Given the description of an element on the screen output the (x, y) to click on. 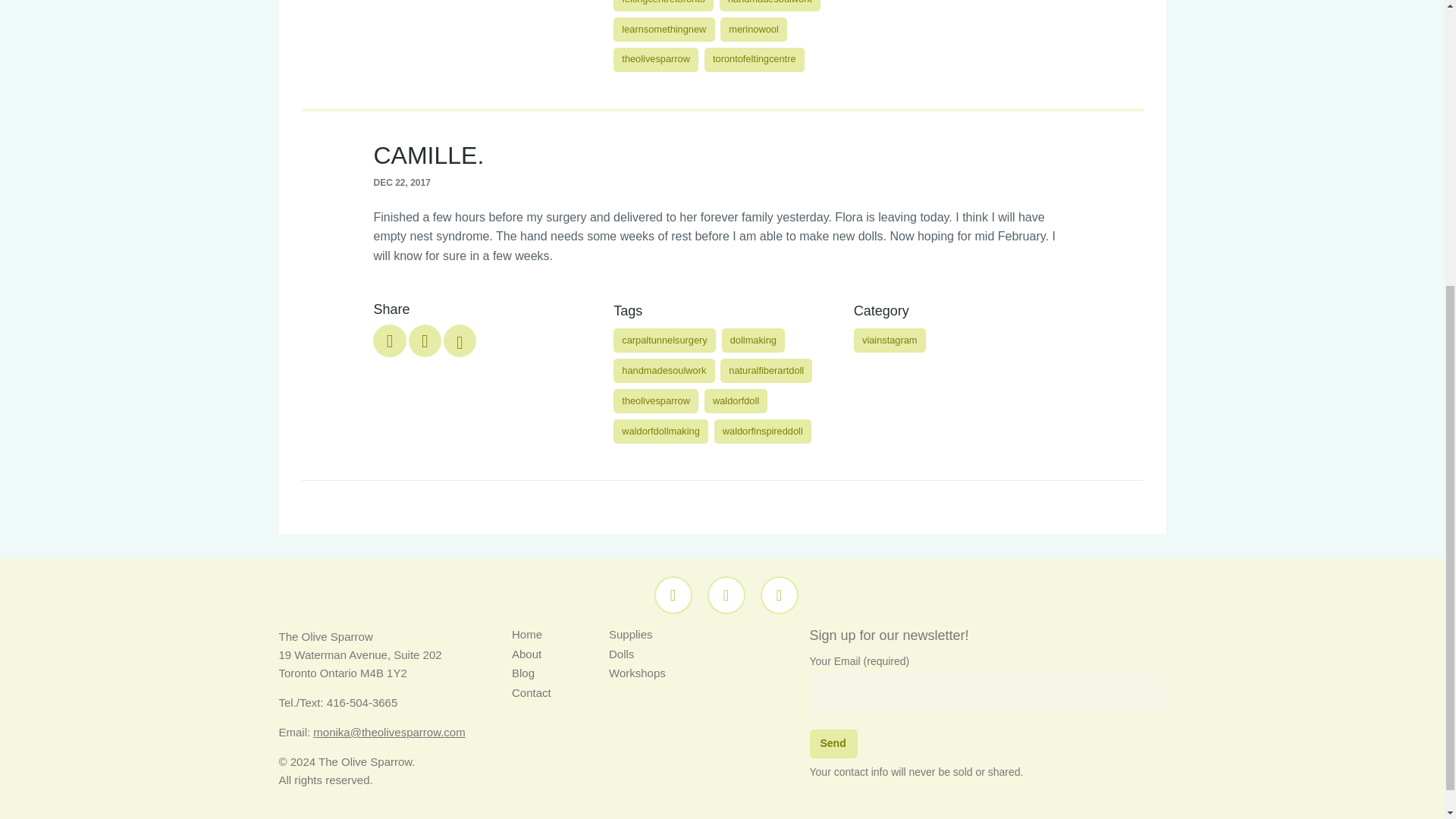
Camille. (389, 340)
theolivesparrow (655, 59)
handmadesoulwork (770, 5)
feltingcentretoronto (662, 5)
torontofeltingcentre (754, 59)
Camille. (425, 340)
Send (833, 744)
DEC 22, 2017 (721, 181)
merinowool (753, 29)
CAMILLE. (427, 154)
Camille. (460, 340)
learnsomethingnew (663, 29)
